Given the description of an element on the screen output the (x, y) to click on. 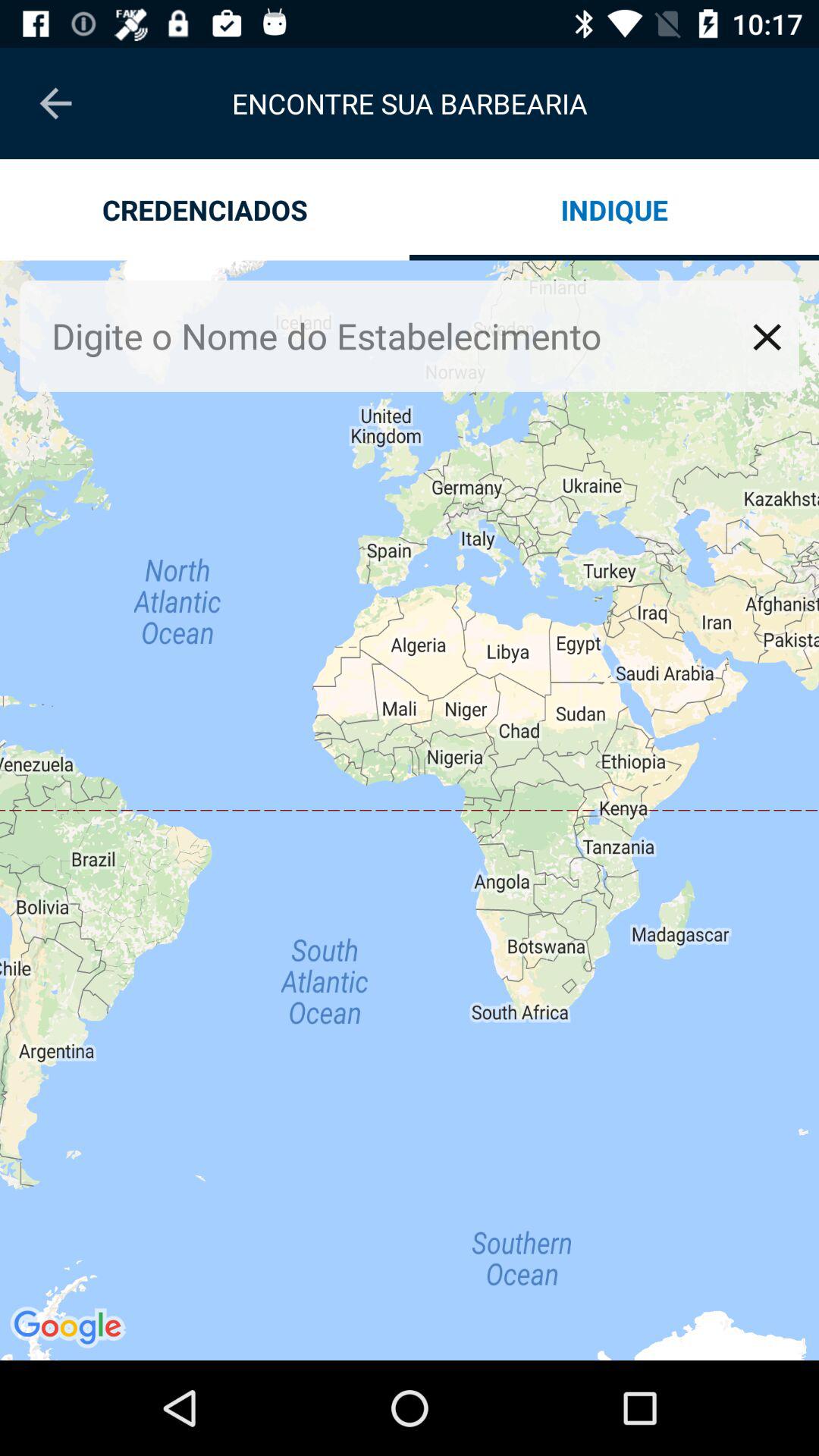
search box (397, 336)
